Given the description of an element on the screen output the (x, y) to click on. 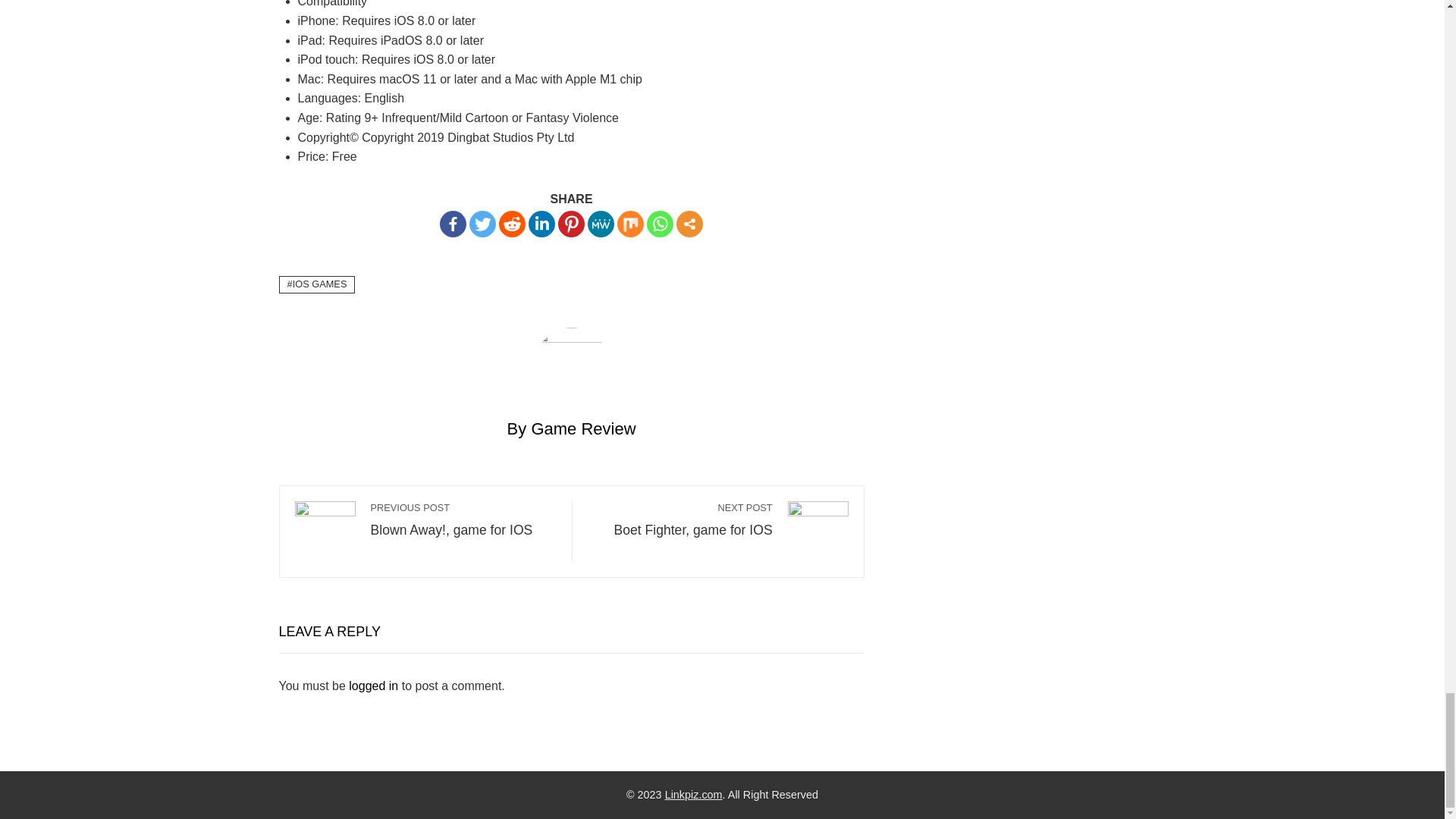
Reddit (512, 223)
Pinterest (571, 223)
Linkedin (541, 223)
MeWe (601, 223)
Facebook (452, 223)
Twitter (482, 223)
